Given the description of an element on the screen output the (x, y) to click on. 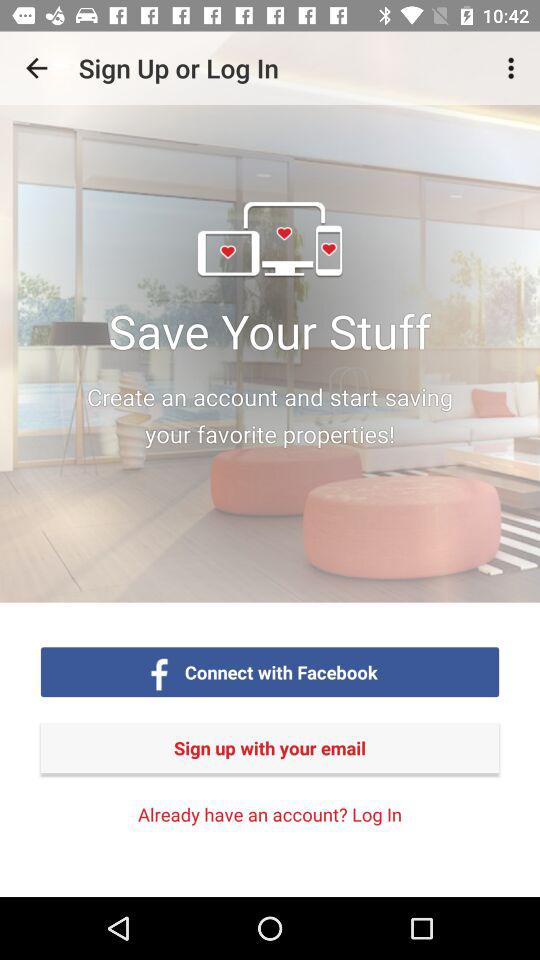
press icon above sign up with icon (513, 67)
